Given the description of an element on the screen output the (x, y) to click on. 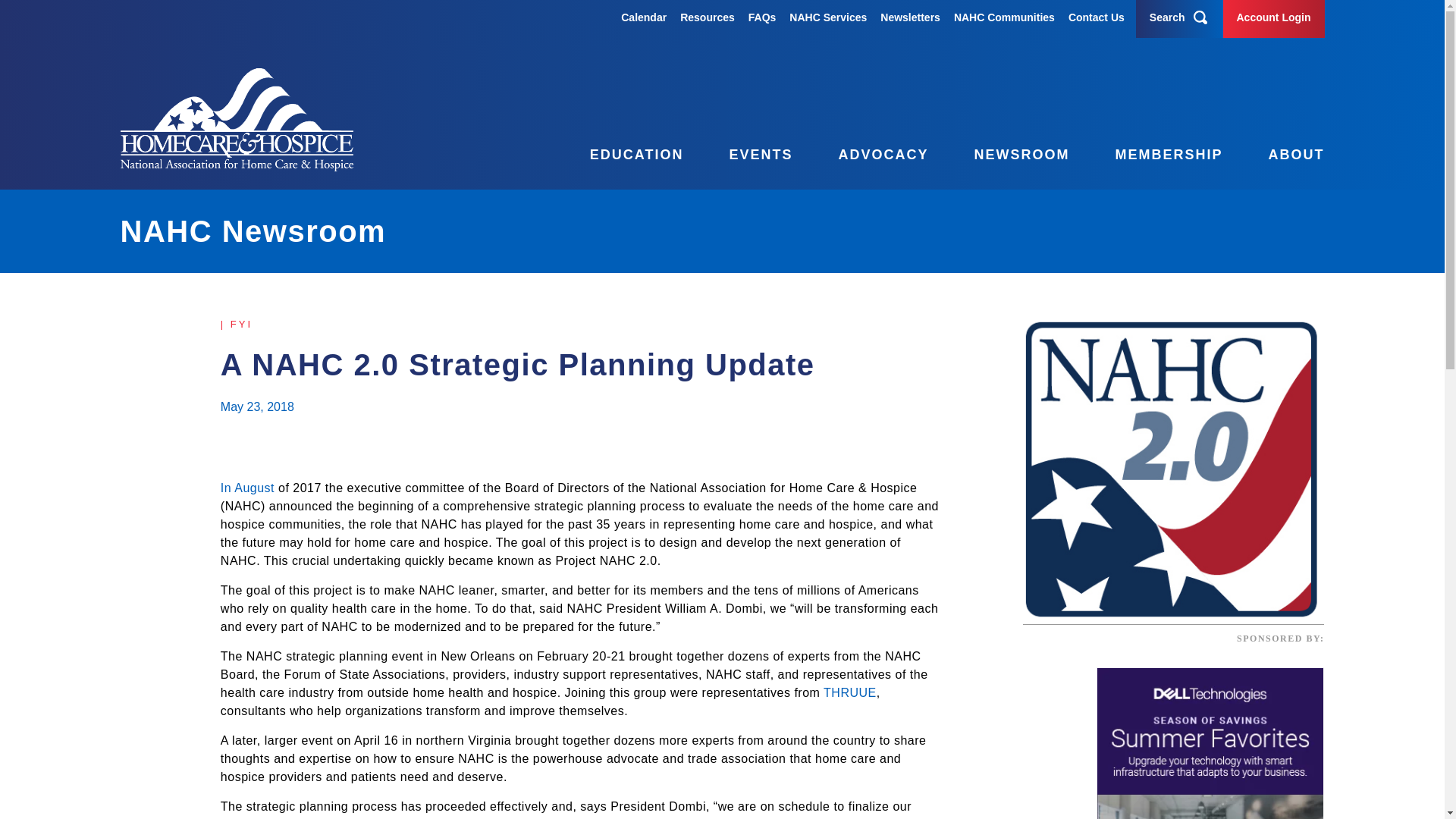
NAHC Communities (1003, 17)
NEWSROOM (1005, 156)
NAHC Services (827, 17)
Resources (707, 17)
Account Login (1273, 17)
Contact Us (1096, 17)
Newsletters (910, 17)
EVENTS (745, 156)
Calendar (643, 17)
FAQs (762, 17)
EDUCATION (621, 156)
Search (1167, 17)
ADVOCACY (868, 156)
